Given the description of an element on the screen output the (x, y) to click on. 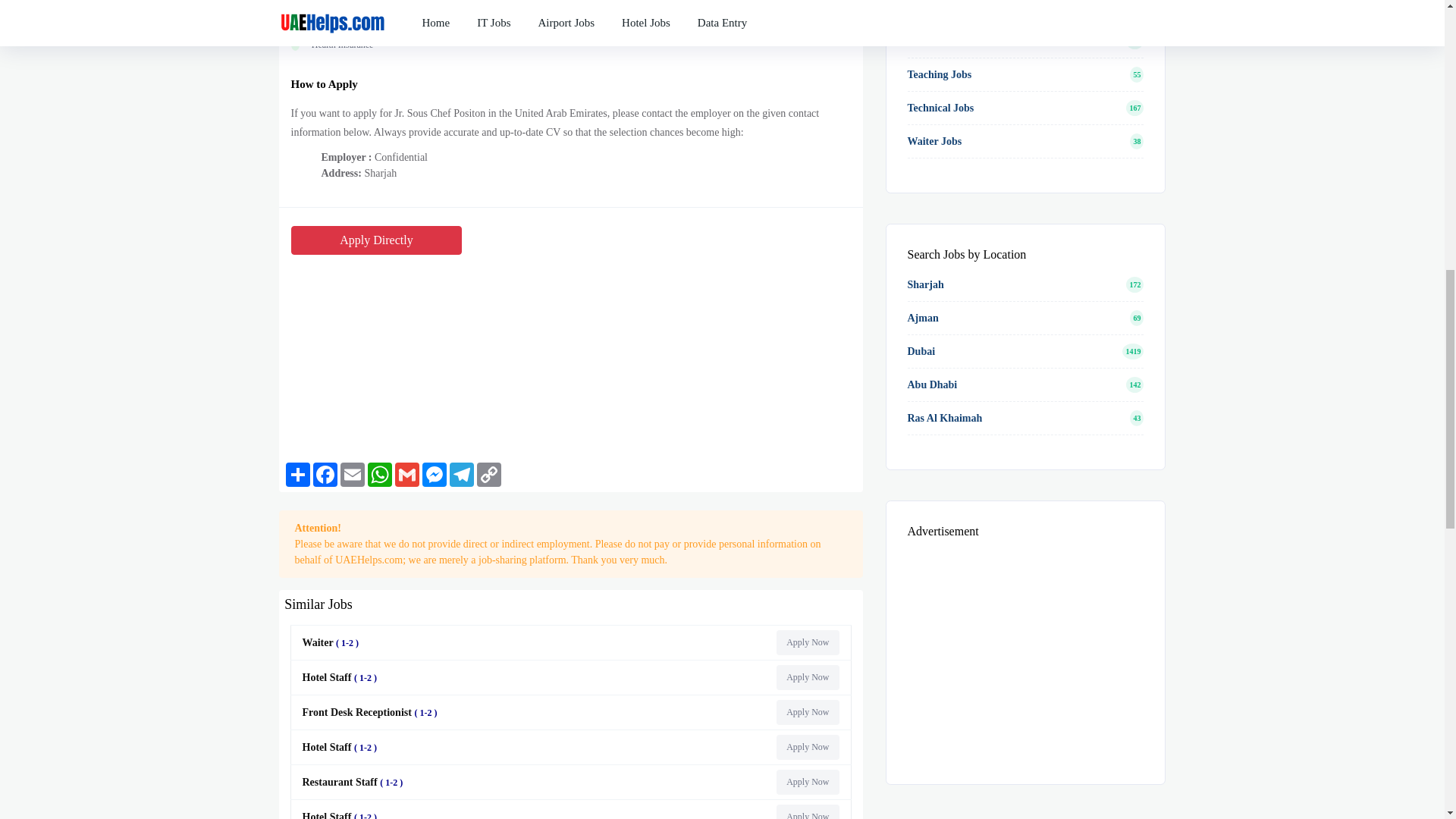
Telegram (462, 474)
Messenger (434, 474)
Hotel Staff (341, 815)
Apply Now (807, 781)
Apply Directly (377, 240)
Apply Now (807, 811)
Gmail (406, 474)
Hotel Staff (341, 747)
Waiter  (332, 642)
Hotel Staff Jobs in Dubai UAE (807, 677)
